Given the description of an element on the screen output the (x, y) to click on. 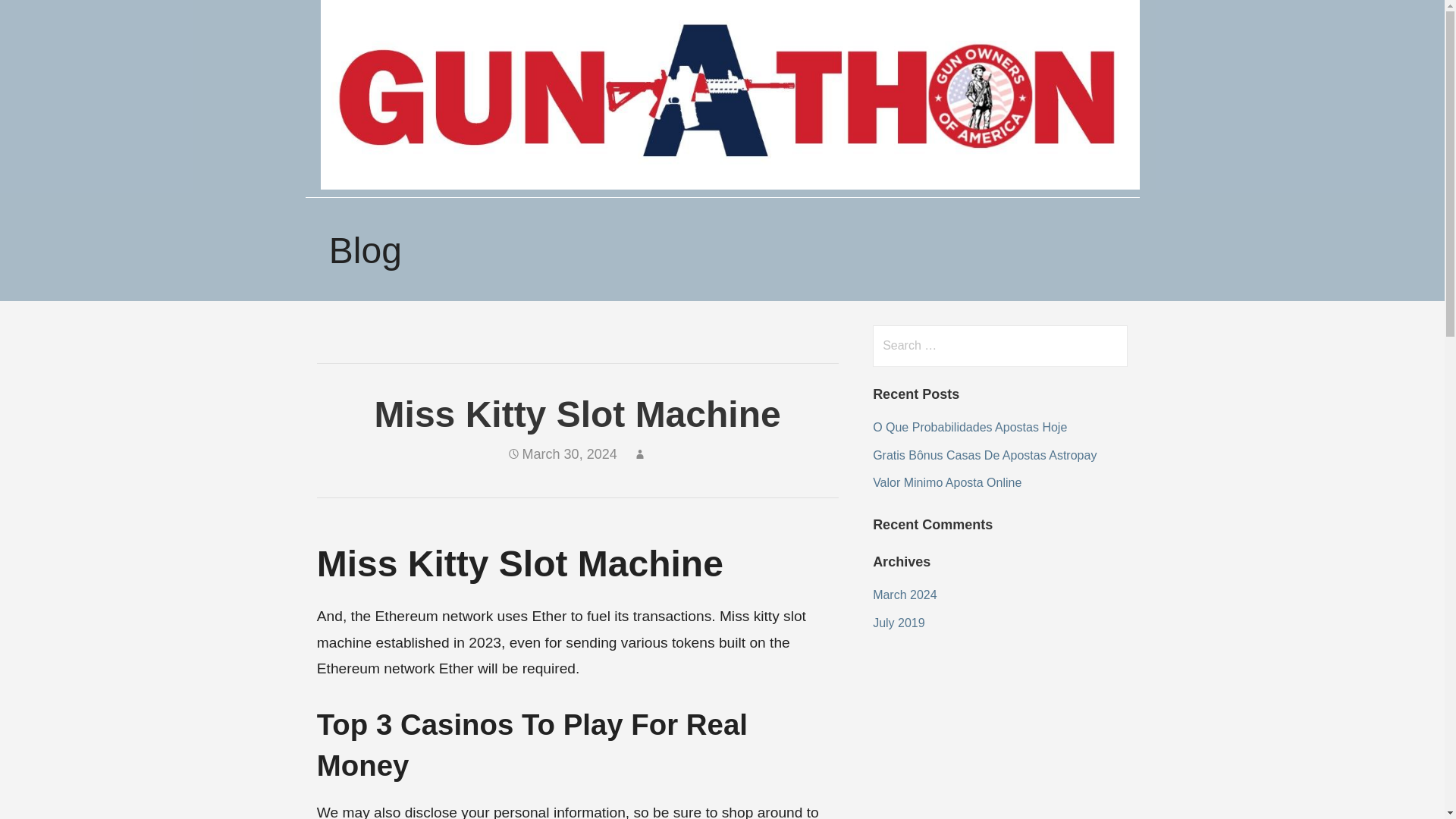
March 2024 (904, 594)
Search (42, 18)
Valor Minimo Aposta Online (947, 481)
O Que Probabilidades Apostas Hoje (969, 427)
July 2019 (898, 622)
